Given the description of an element on the screen output the (x, y) to click on. 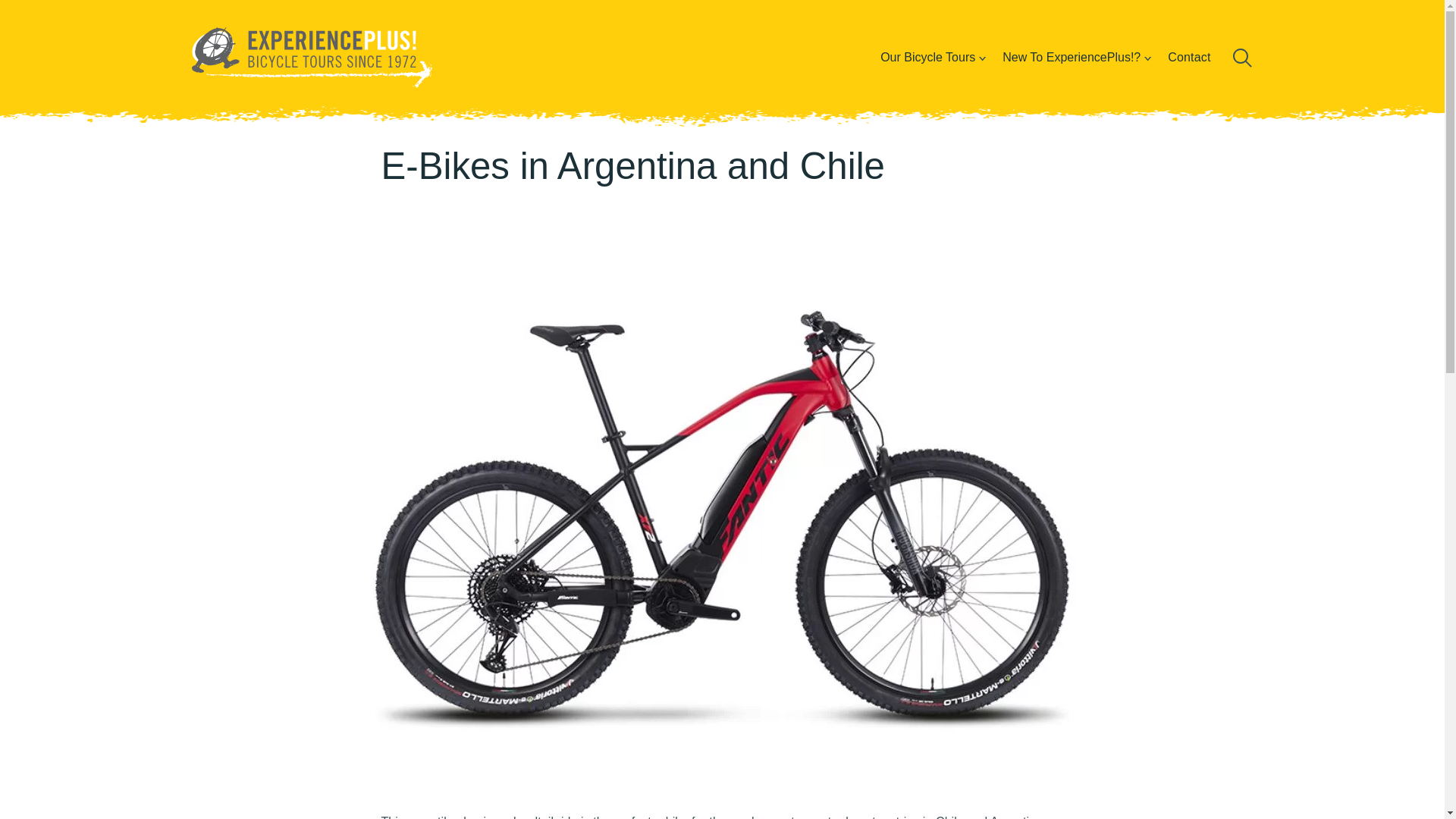
Our Bicycle Tours (927, 56)
New To ExperiencePlus!? (1071, 56)
Contact (1188, 57)
